Given the description of an element on the screen output the (x, y) to click on. 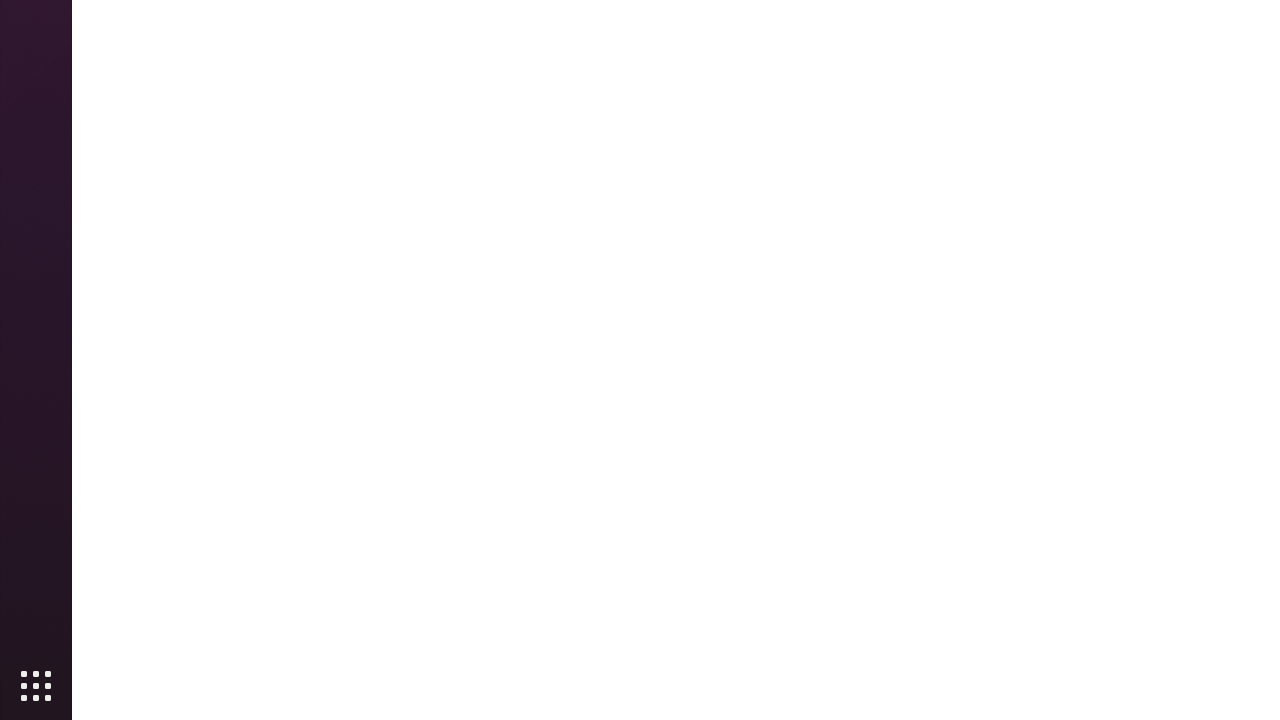
Show Applications Element type: toggle-button (36, 686)
